Given the description of an element on the screen output the (x, y) to click on. 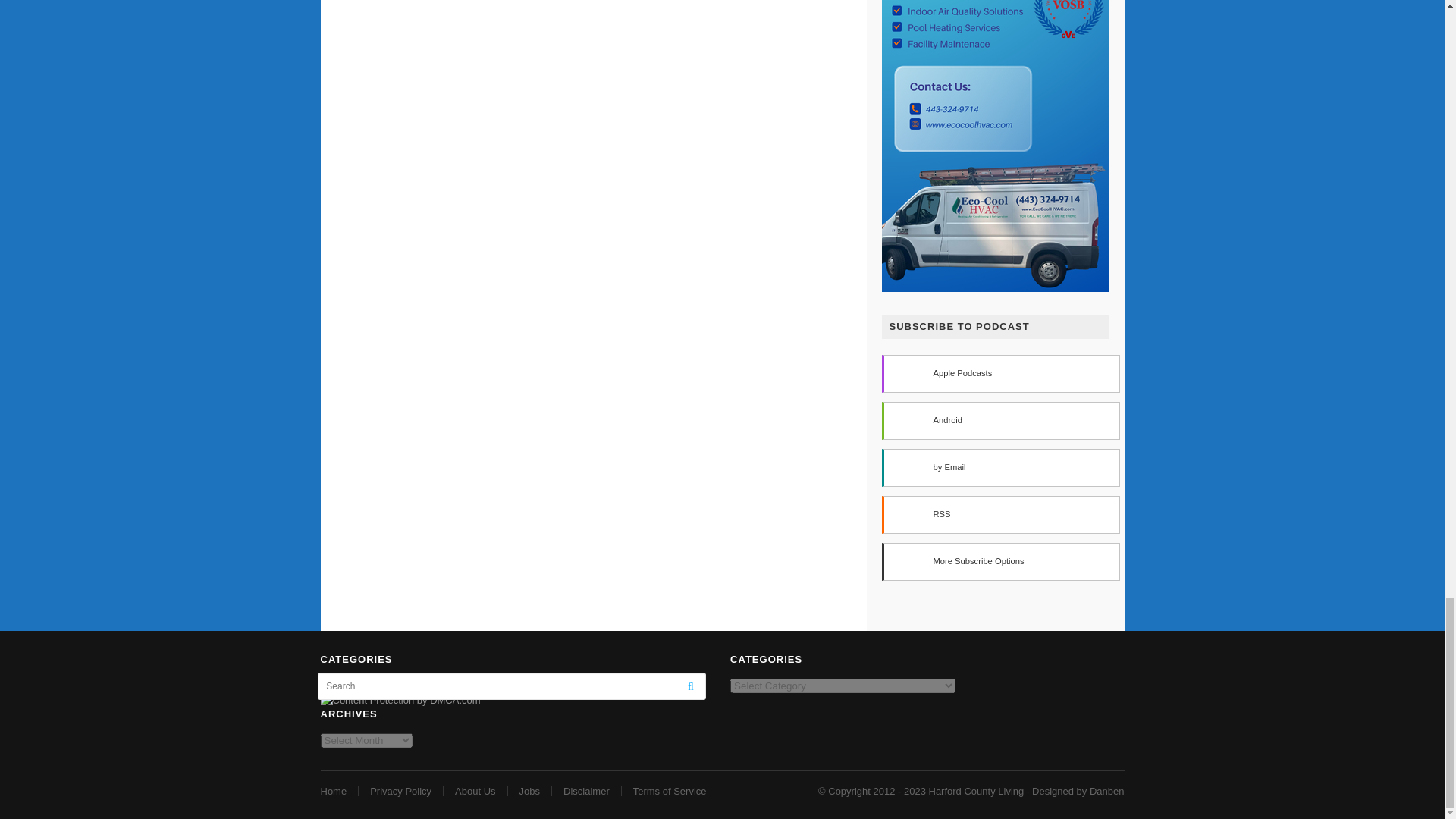
Subscribe via RSS (999, 514)
Content Protection by DMCA.com (400, 699)
More Subscribe Options (999, 561)
Subscribe by Email (999, 467)
Subscribe on Android (999, 420)
Subscribe on Apple Podcasts (999, 373)
